Given the description of an element on the screen output the (x, y) to click on. 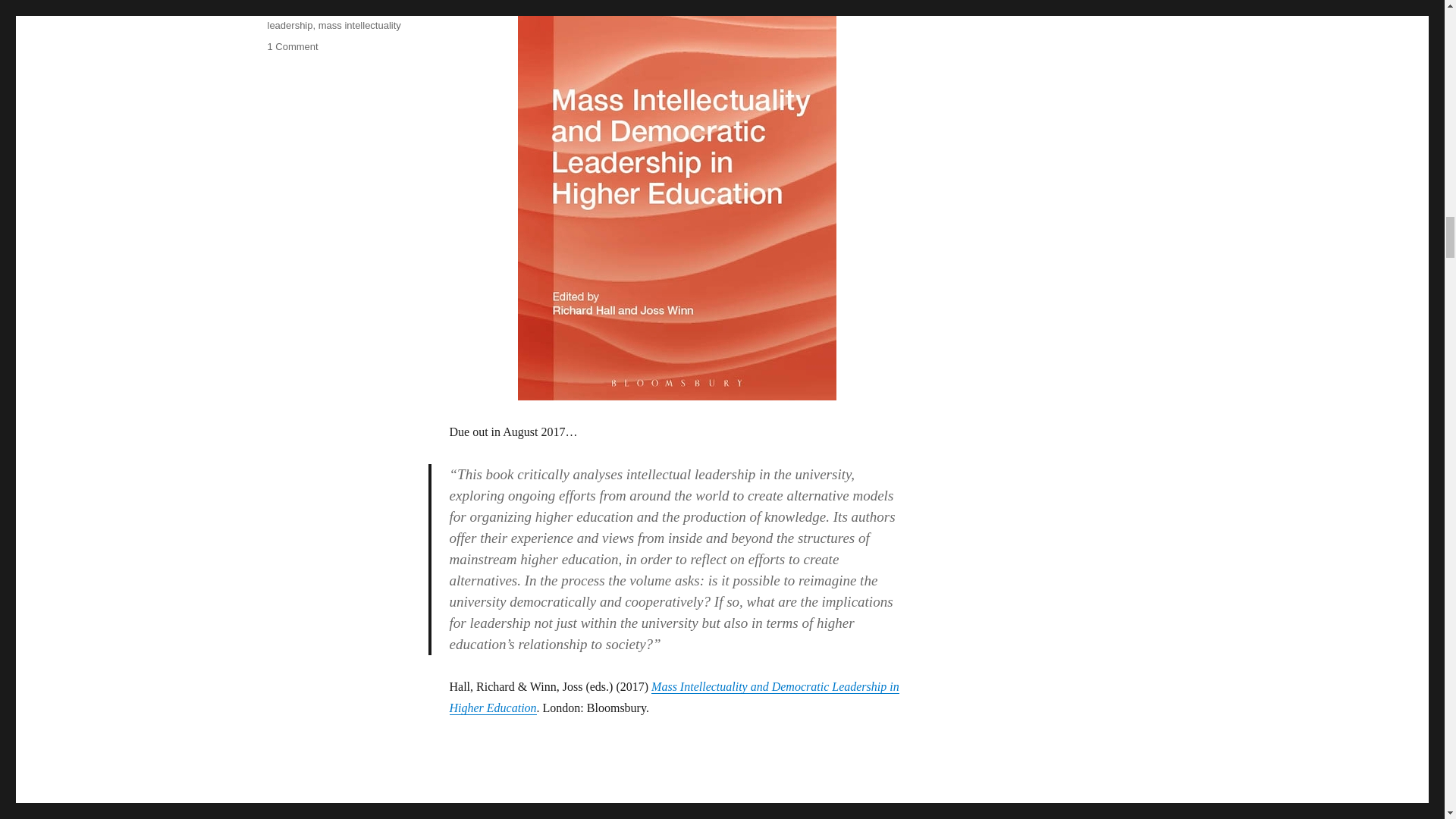
Review: Co-operation, learning and co-operative values (547, 812)
educational leadership (316, 7)
Higher education (355, 9)
leadership (289, 25)
mass intellectuality (359, 25)
